Given the description of an element on the screen output the (x, y) to click on. 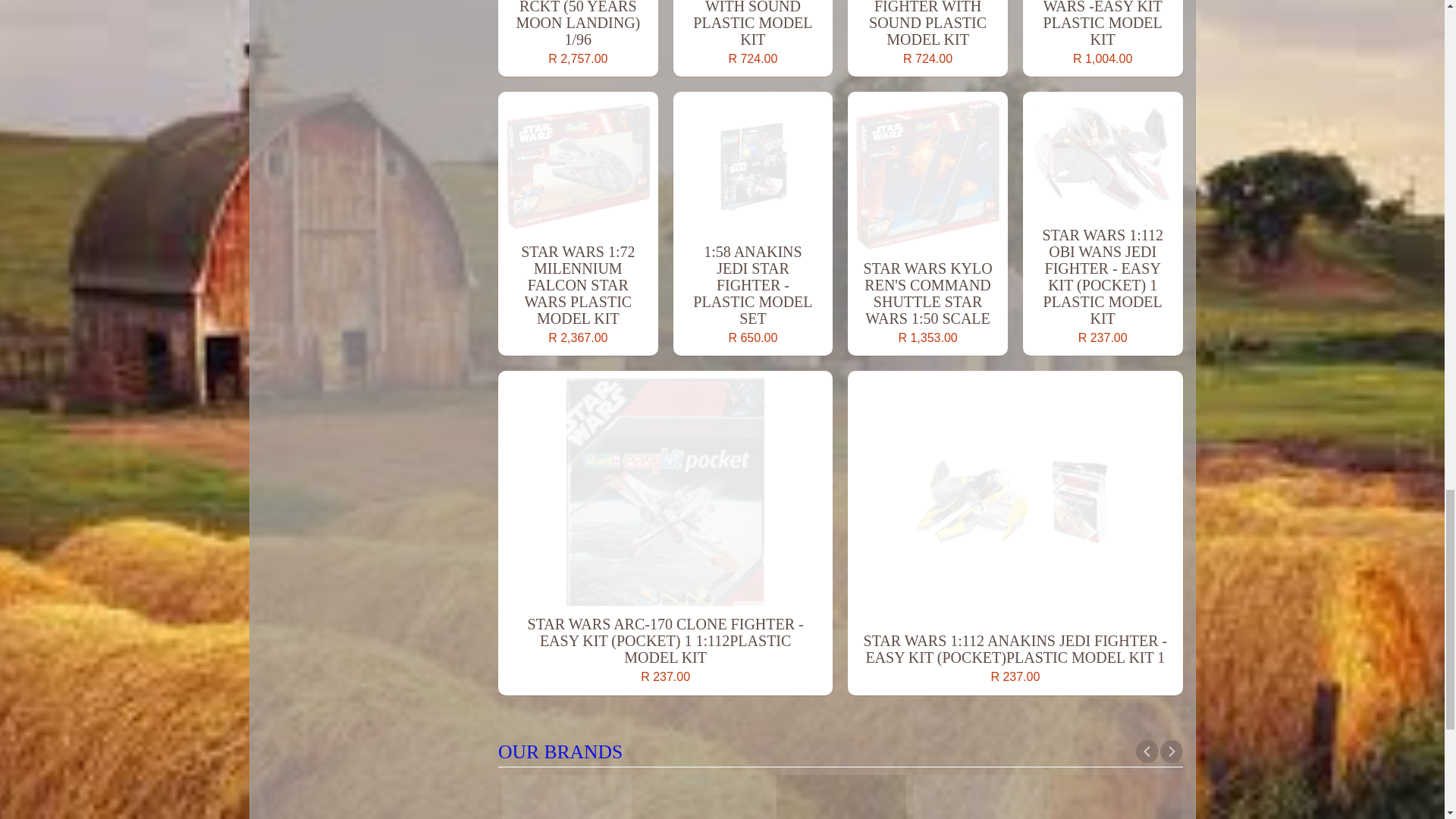
OUR BRANDS (839, 752)
STAR WARS 1:78 X WING FIGHTER WITH SOUND PLASTIC MODEL KIT (752, 38)
OUR BRANDS (839, 766)
